Given the description of an element on the screen output the (x, y) to click on. 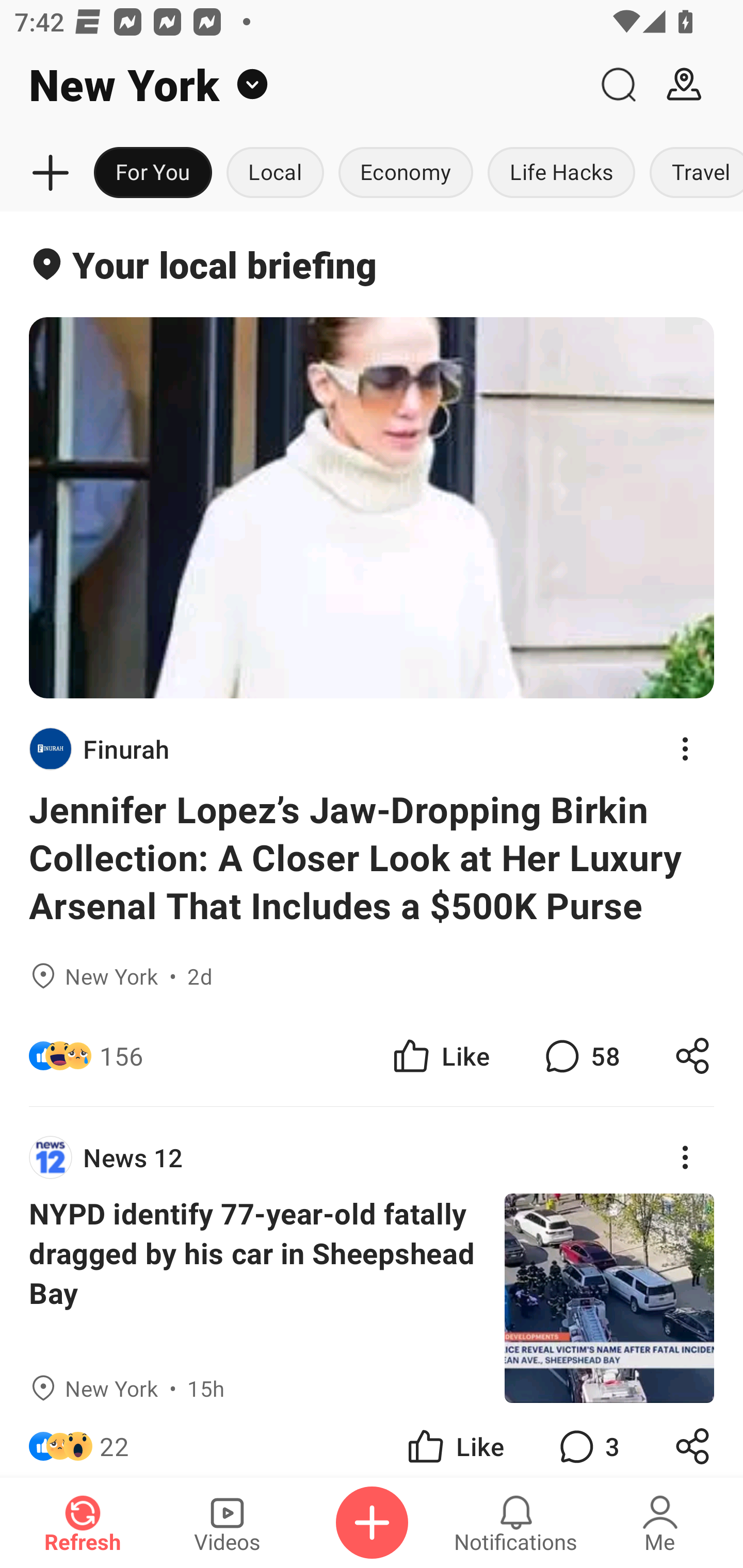
New York (292, 84)
For You (152, 172)
Local (275, 172)
Economy (405, 172)
Life Hacks (561, 172)
Travel (692, 172)
156 (121, 1055)
Like (439, 1055)
58 (579, 1055)
22 (114, 1440)
Like (454, 1440)
3 (587, 1440)
Videos (227, 1522)
Notifications (516, 1522)
Me (659, 1522)
